Given the description of an element on the screen output the (x, y) to click on. 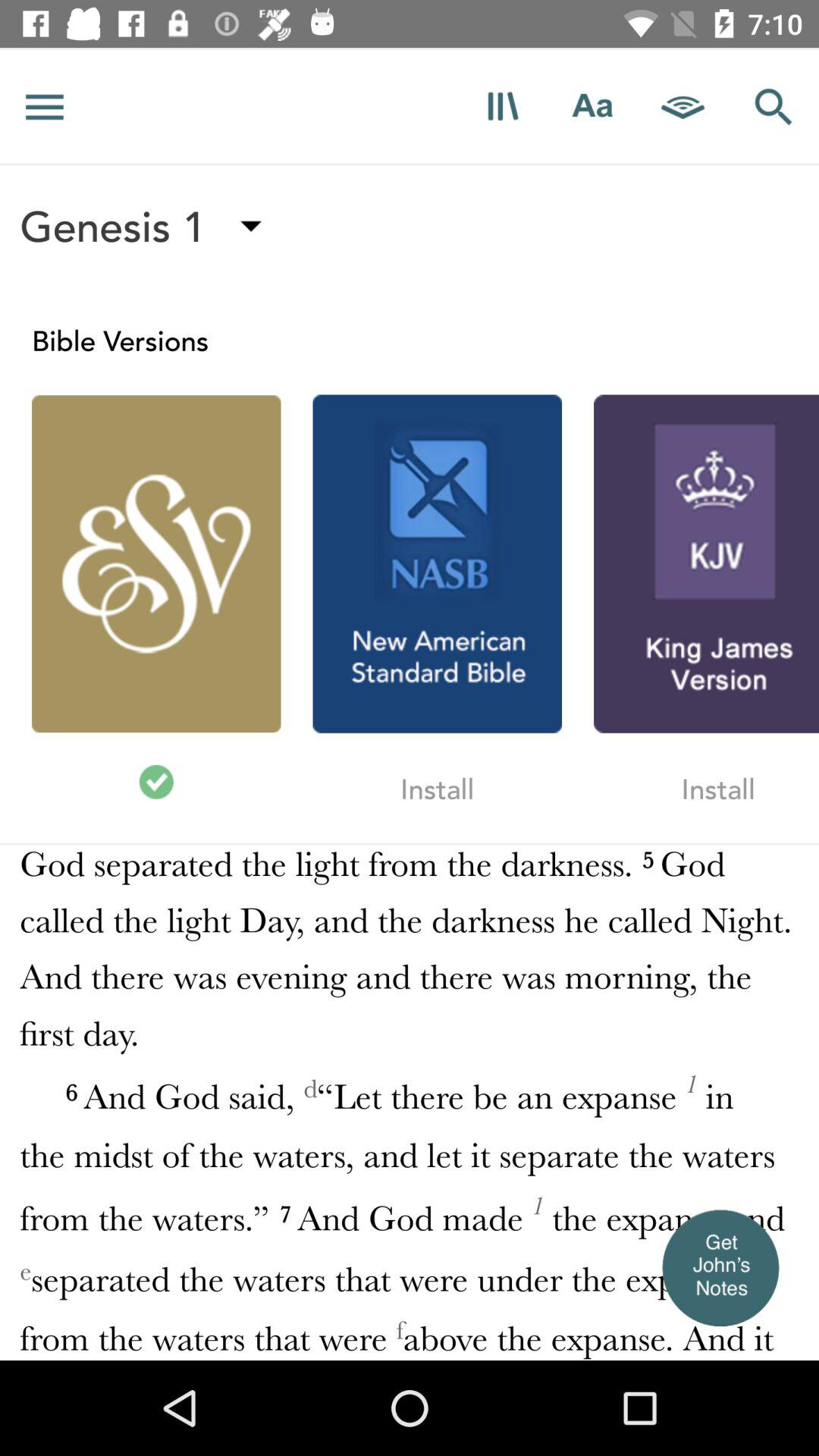
more option (45, 106)
